Given the description of an element on the screen output the (x, y) to click on. 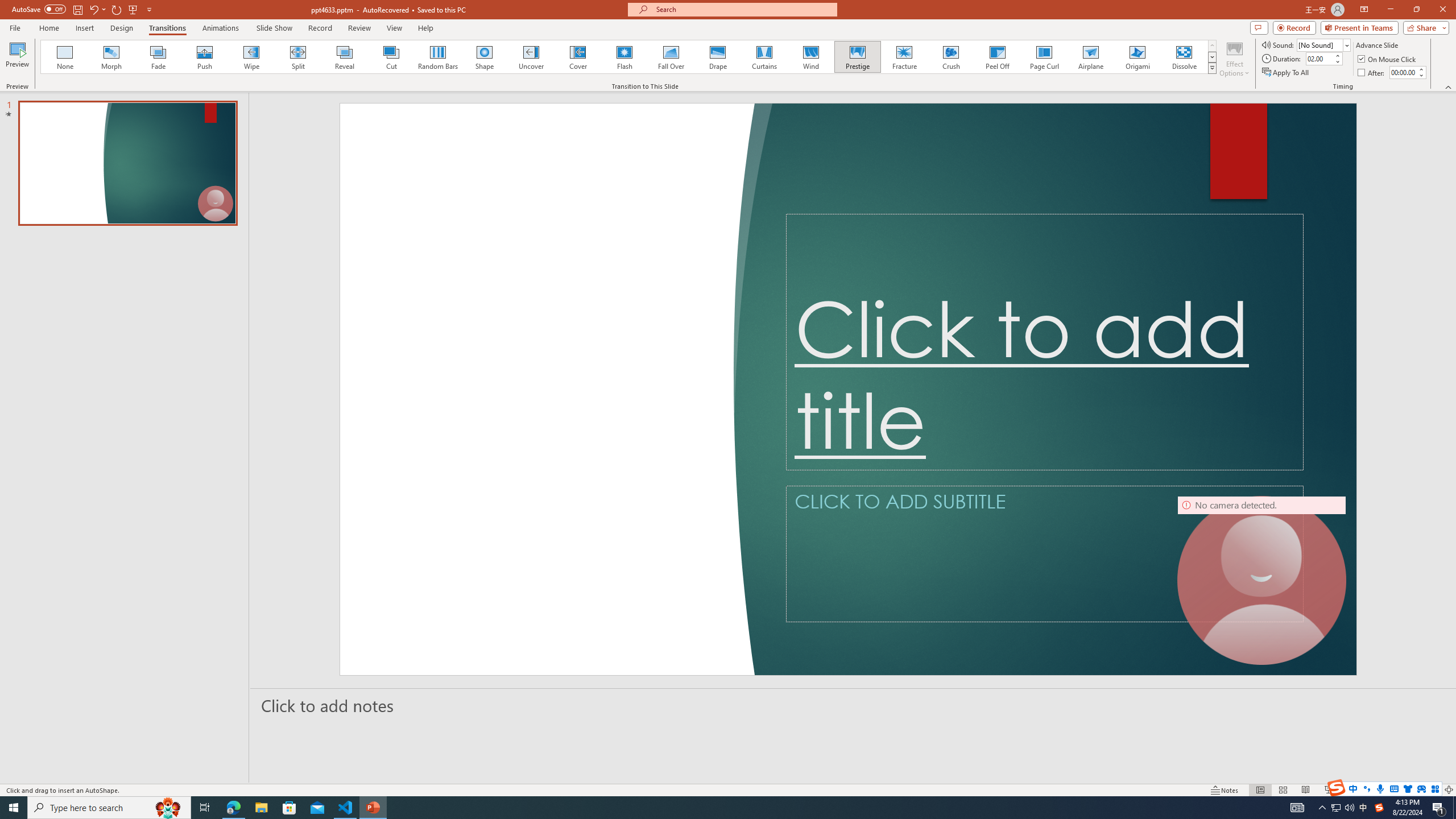
Fracture (903, 56)
Peel Off (997, 56)
Fall Over (670, 56)
More (1420, 69)
Uncover (531, 56)
After (1372, 72)
Dissolve (1183, 56)
Less (1420, 75)
Page Curl (1043, 56)
